Given the description of an element on the screen output the (x, y) to click on. 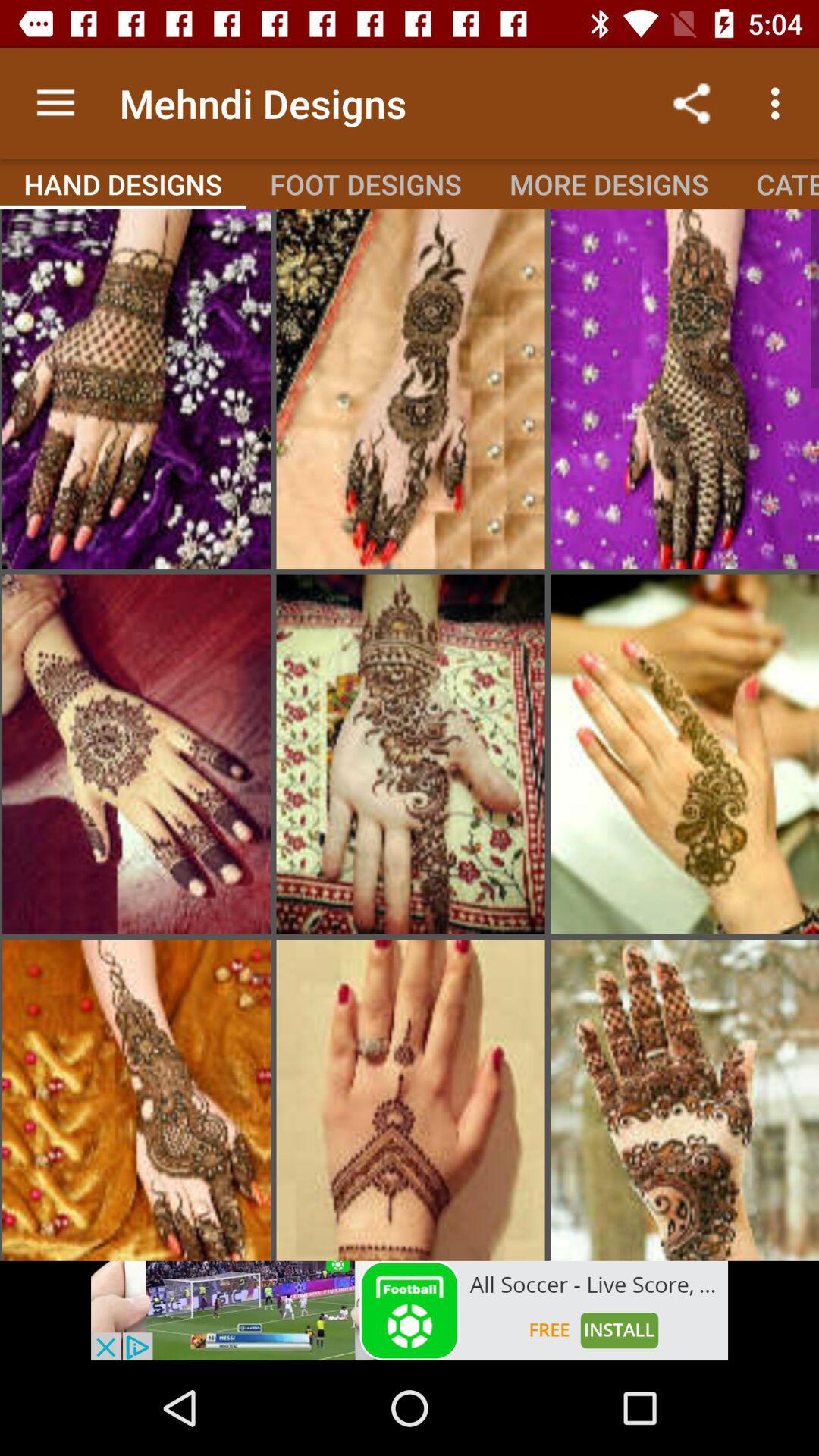
to go wood (136, 753)
